Given the description of an element on the screen output the (x, y) to click on. 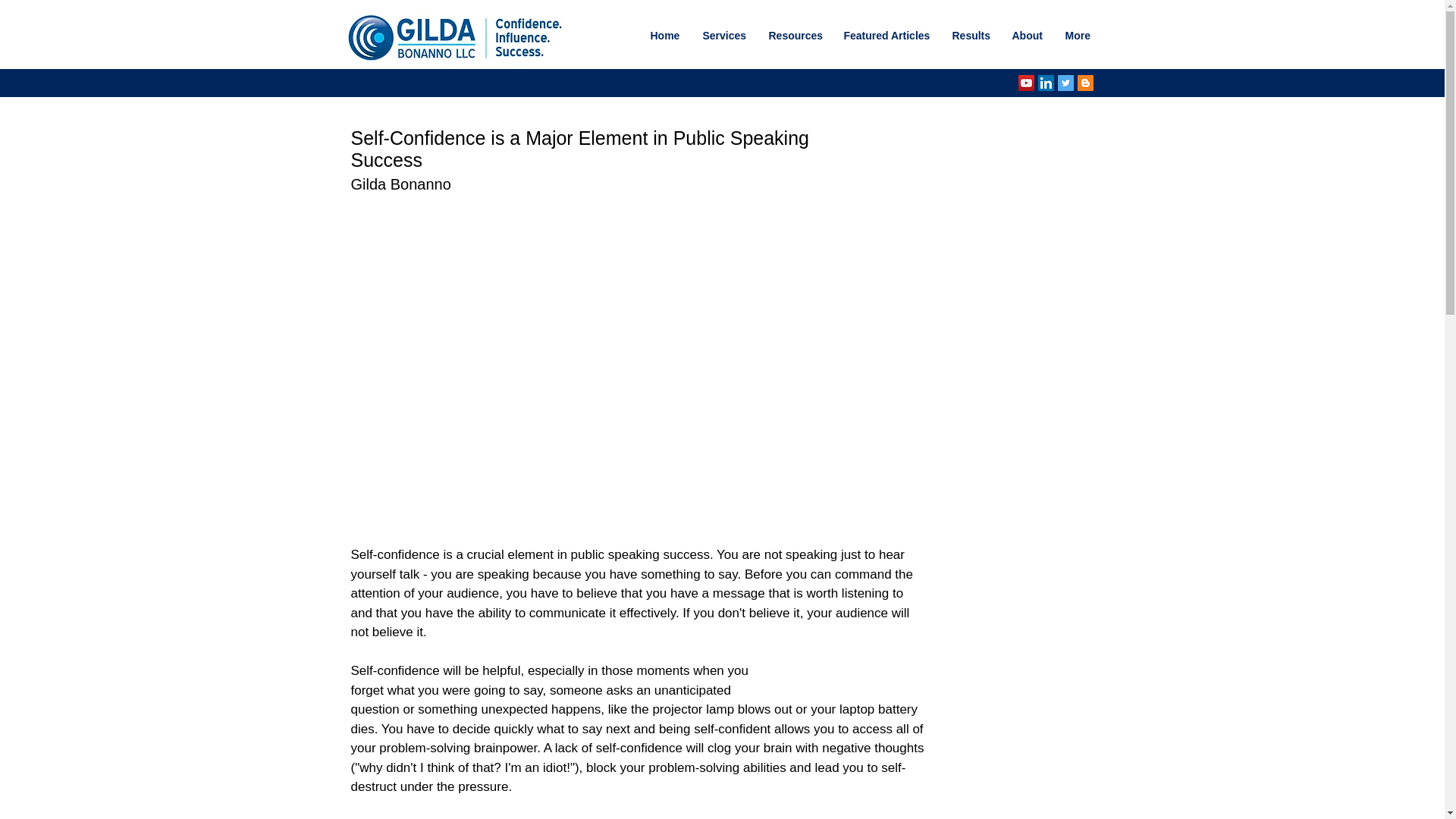
Home (664, 35)
Featured Articles (886, 35)
